Given the description of an element on the screen output the (x, y) to click on. 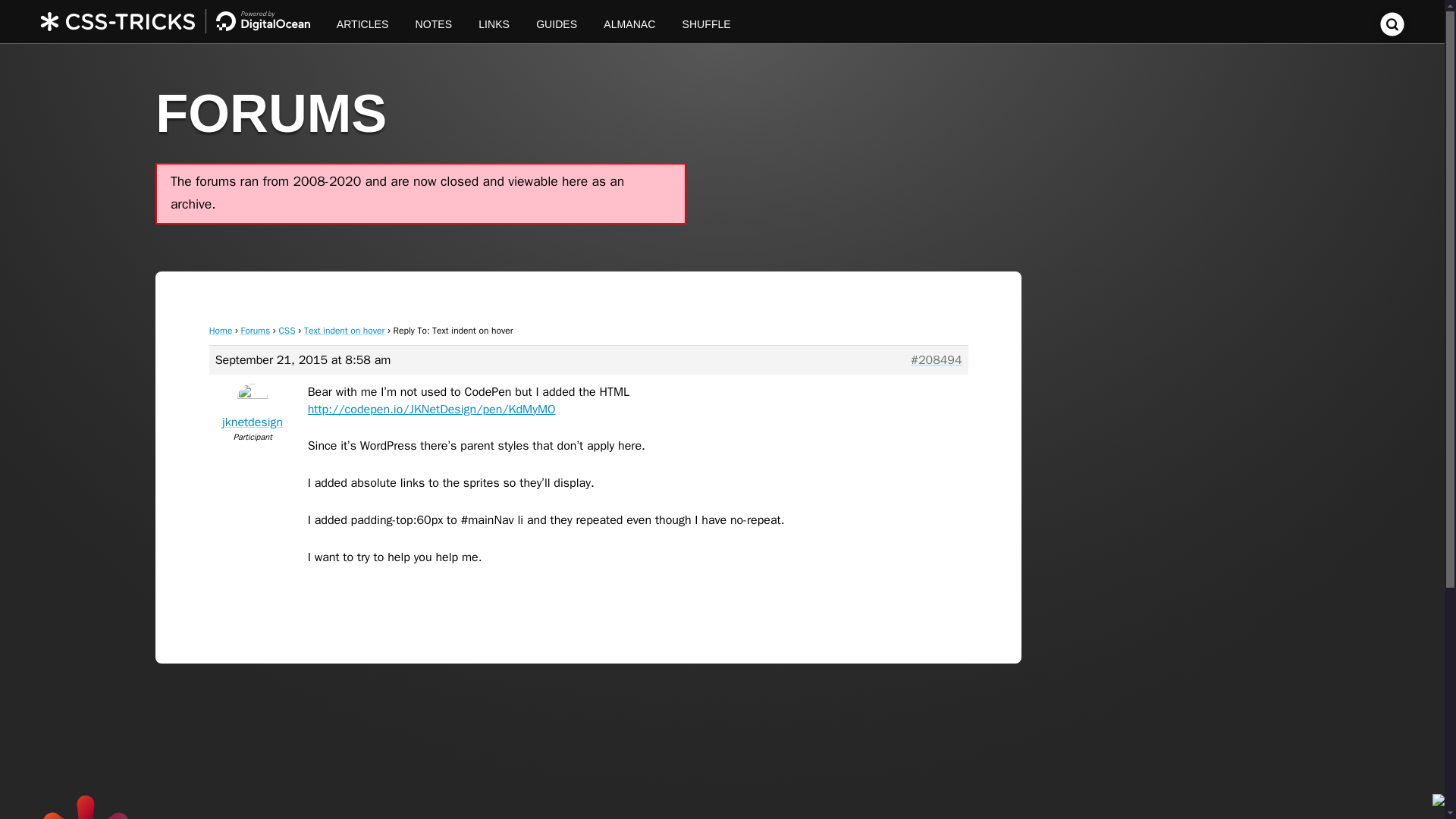
CSS-Tricks (181, 21)
jknetdesign (253, 408)
SHUFFLE (706, 21)
NOTES (433, 21)
ARTICLES (362, 21)
ALMANAC (629, 21)
LINKS (493, 21)
Forums (255, 330)
Text indent on hover (344, 330)
CSS (286, 330)
GUIDES (556, 21)
Search (1392, 31)
View jknetdesign's profile (253, 408)
Home (220, 330)
